Given the description of an element on the screen output the (x, y) to click on. 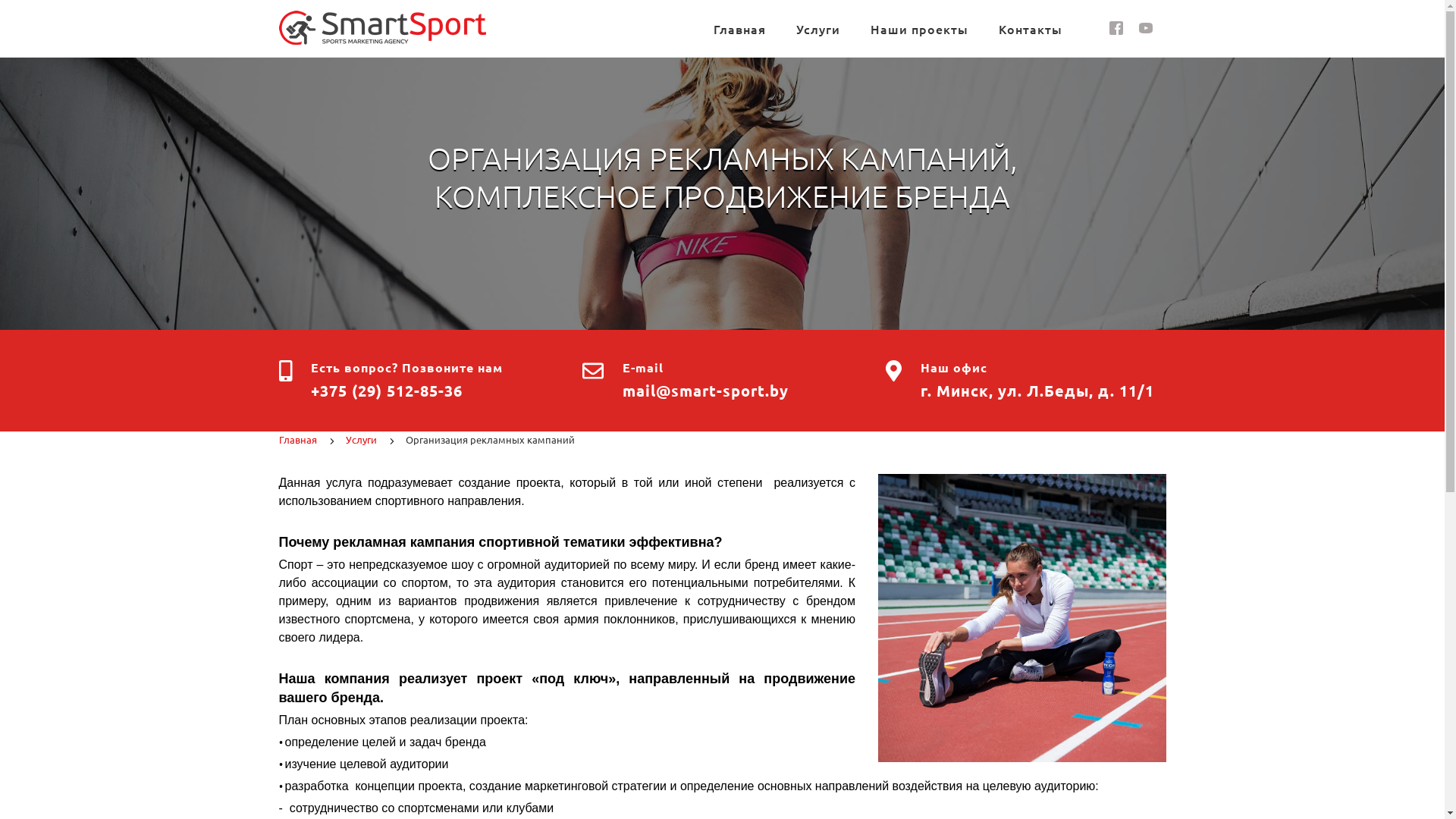
+375 (29) 512-85-36 Element type: text (386, 391)
